Given the description of an element on the screen output the (x, y) to click on. 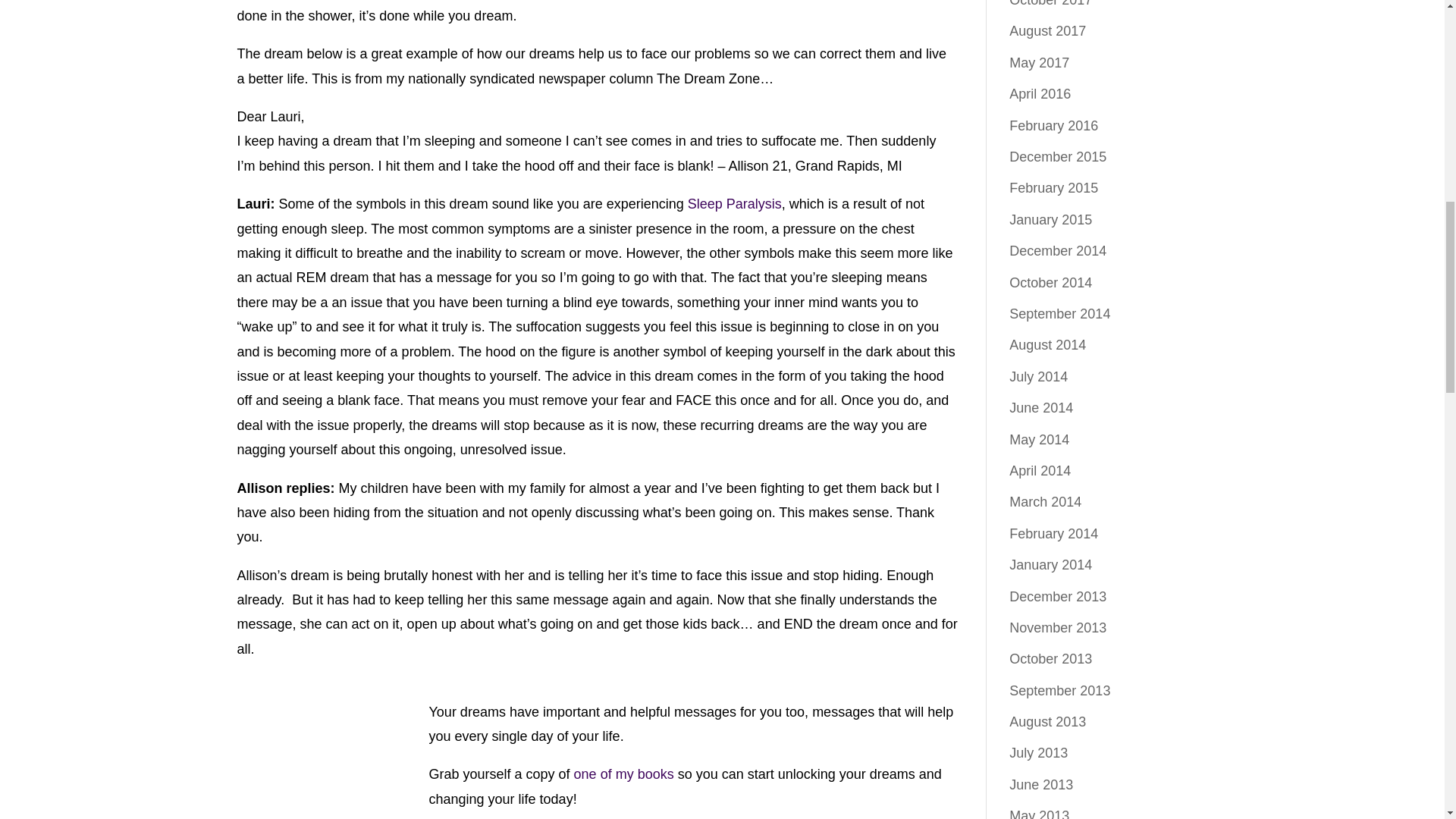
sleep paralysis (734, 203)
books-reflection-193 (332, 746)
